Given the description of an element on the screen output the (x, y) to click on. 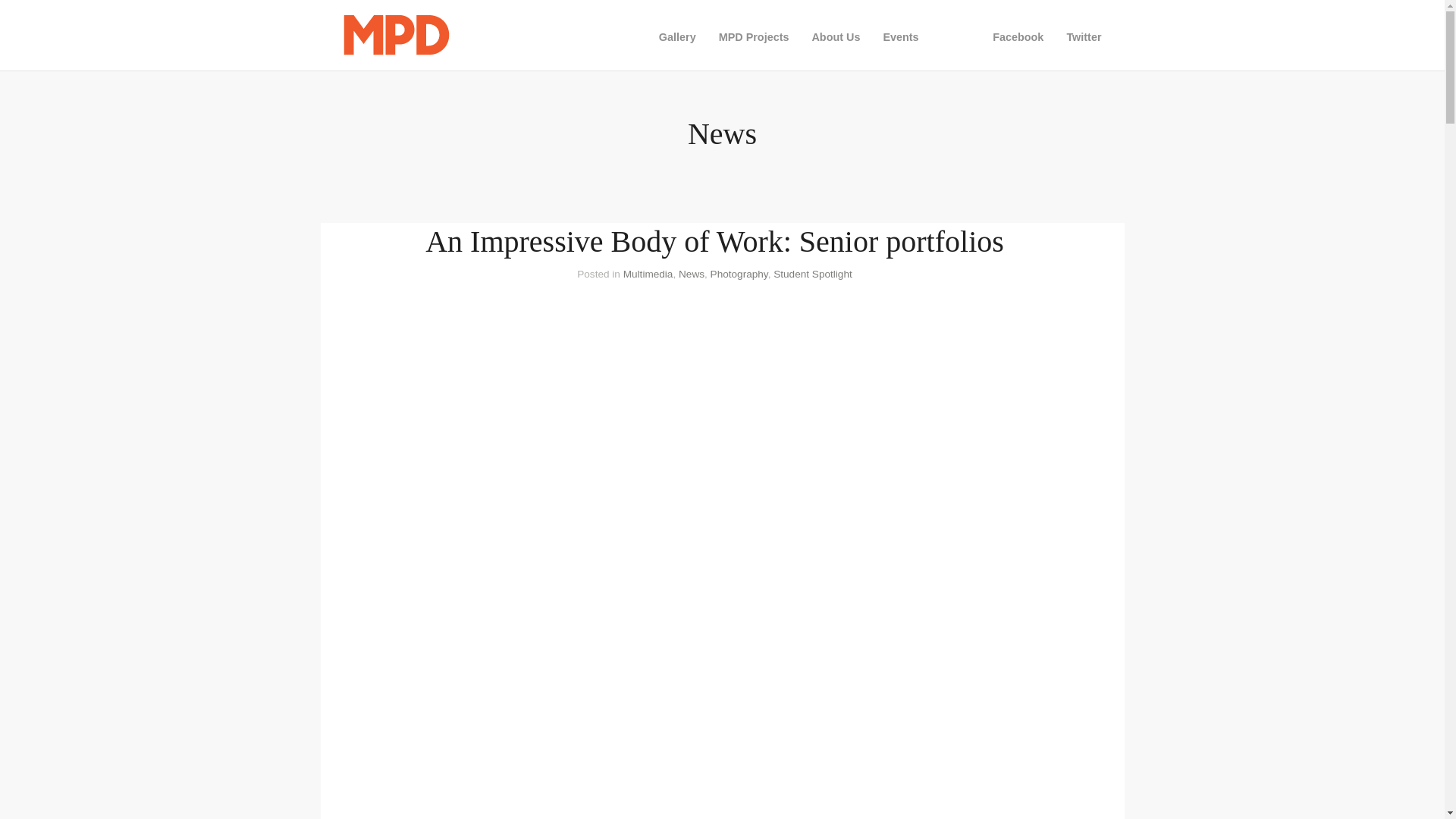
Facebook (1017, 36)
News (691, 274)
Latest happenings in MPD (956, 36)
Gallery (677, 36)
Photography (739, 274)
About Us (835, 36)
Video, Photography and Design Student Work (677, 36)
Student Spotlight (812, 274)
Events (900, 36)
MPD Projects (754, 36)
News (956, 36)
Twitter (1082, 36)
Multimedia (647, 274)
